Given the description of an element on the screen output the (x, y) to click on. 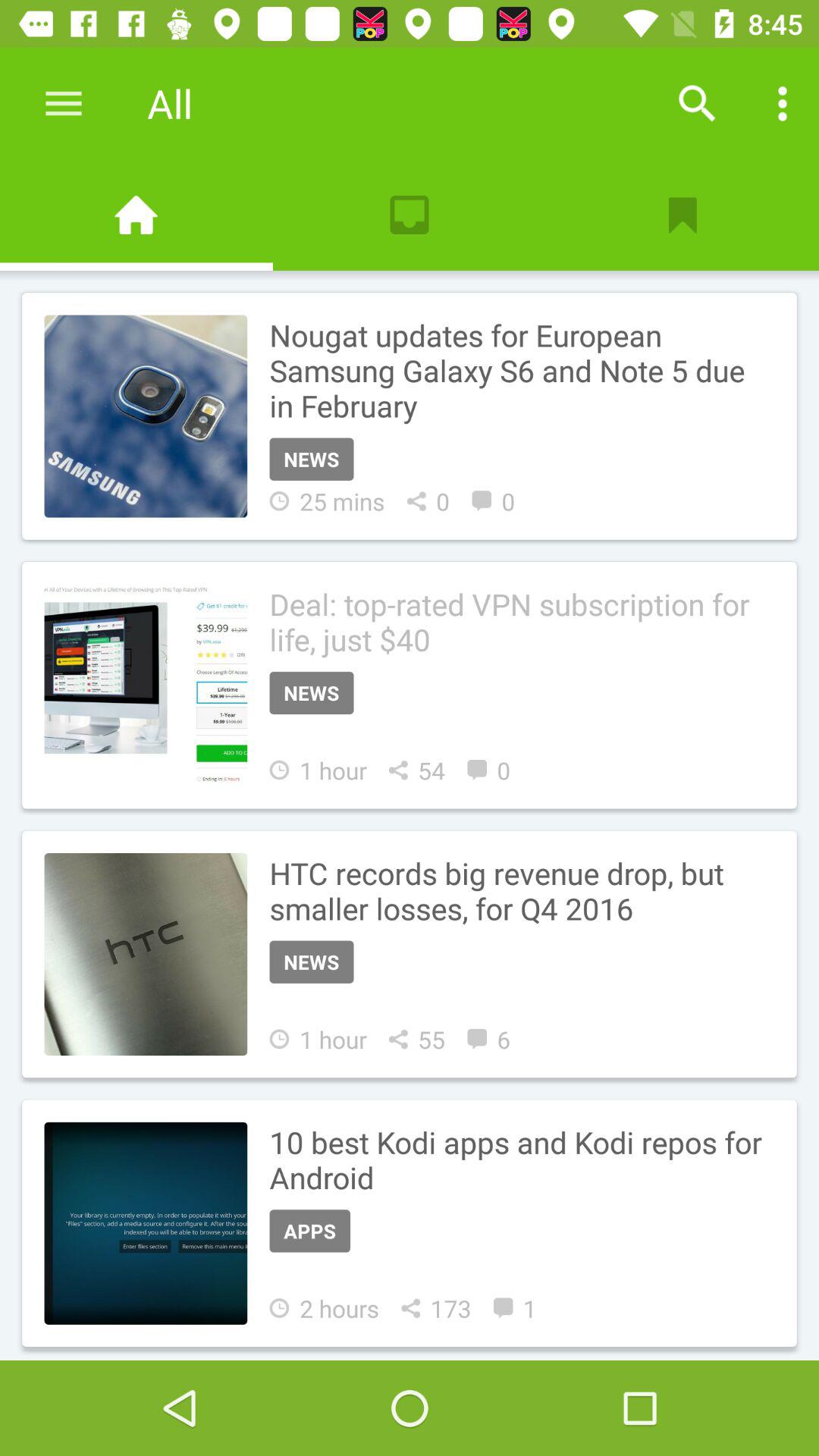
go to home page (136, 214)
